Given the description of an element on the screen output the (x, y) to click on. 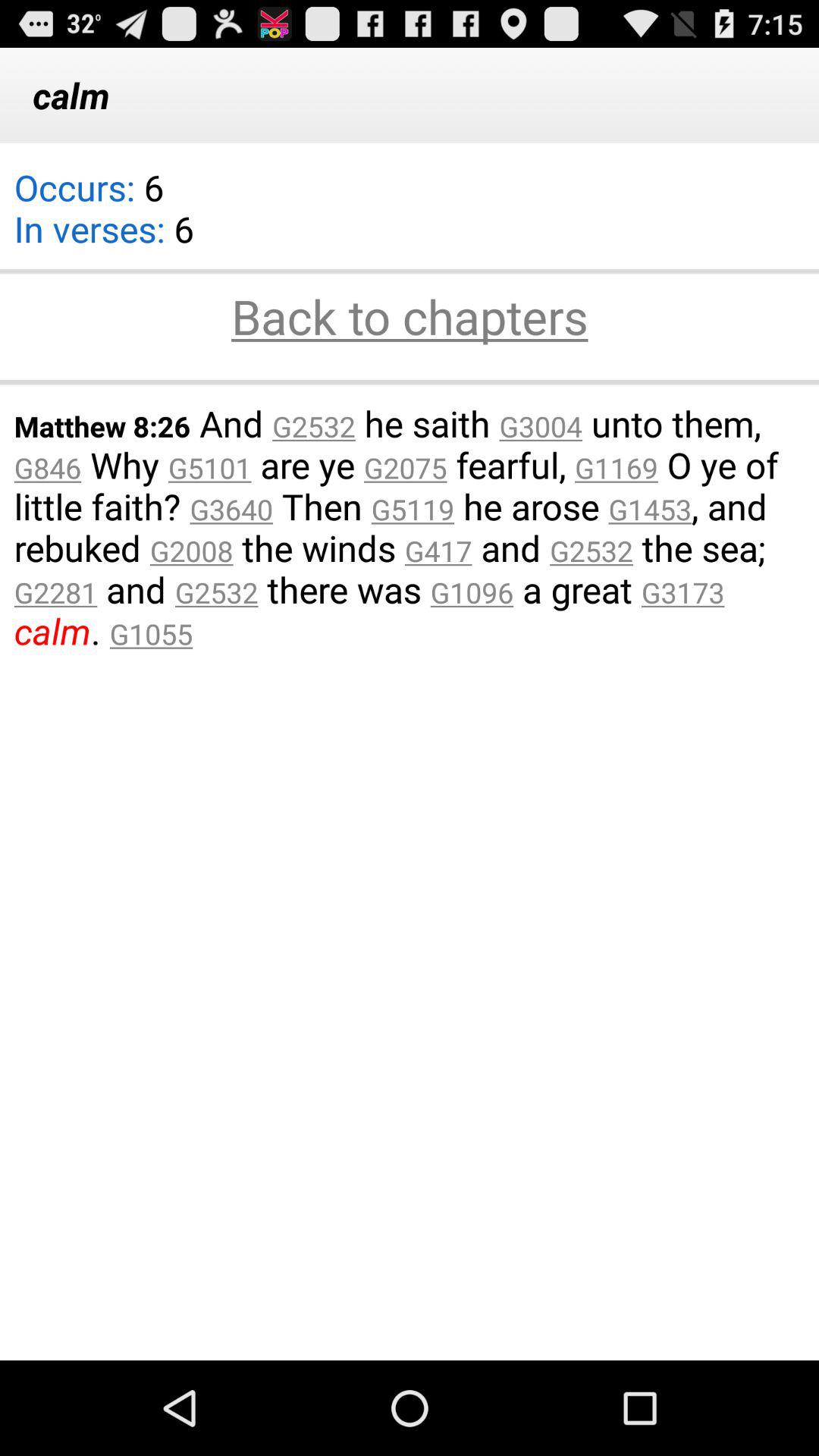
press item below back to chapters (409, 381)
